Given the description of an element on the screen output the (x, y) to click on. 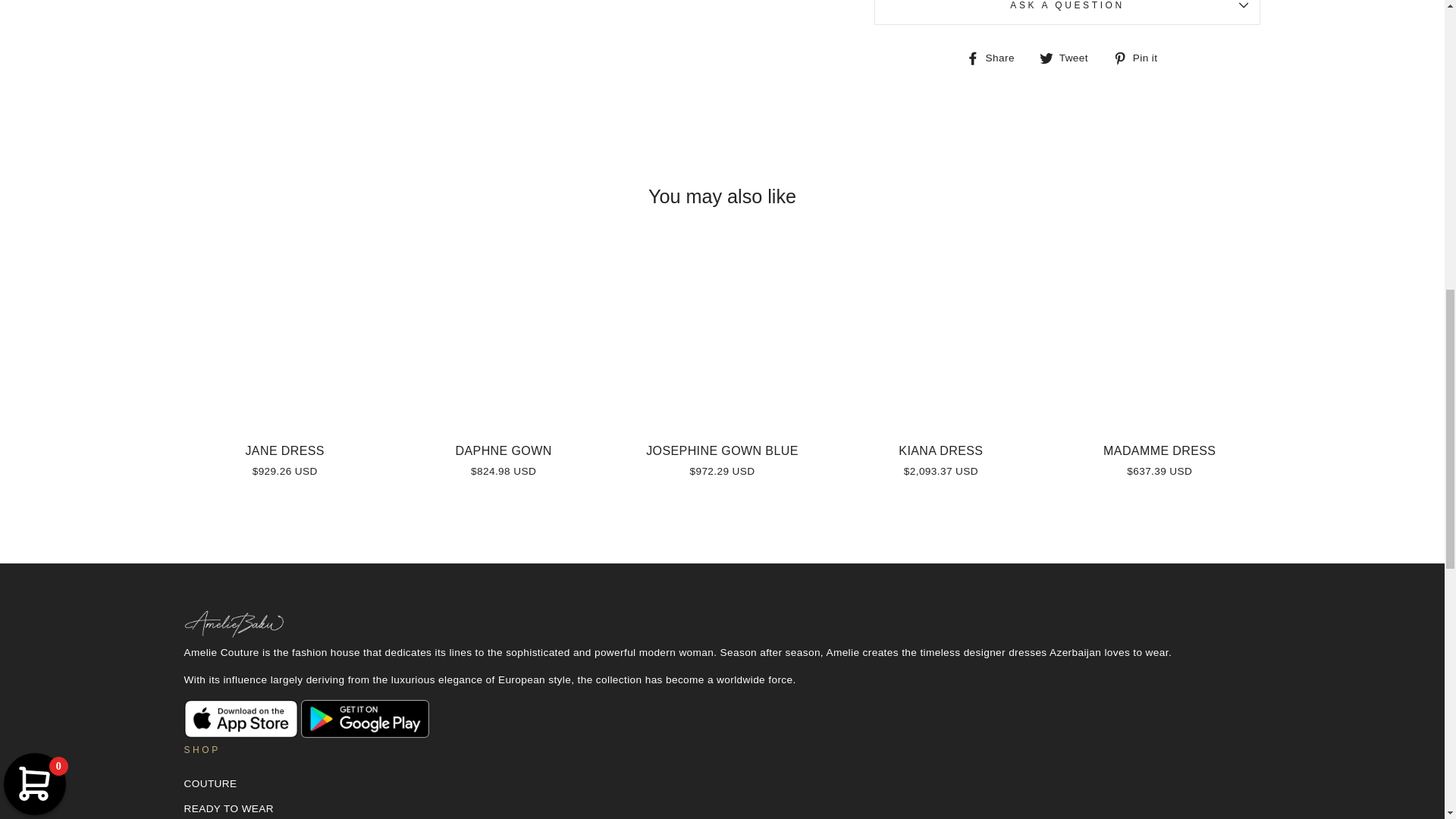
Pin on Pinterest (1141, 57)
Share on Facebook (996, 57)
Tweet on Twitter (1069, 57)
